Given the description of an element on the screen output the (x, y) to click on. 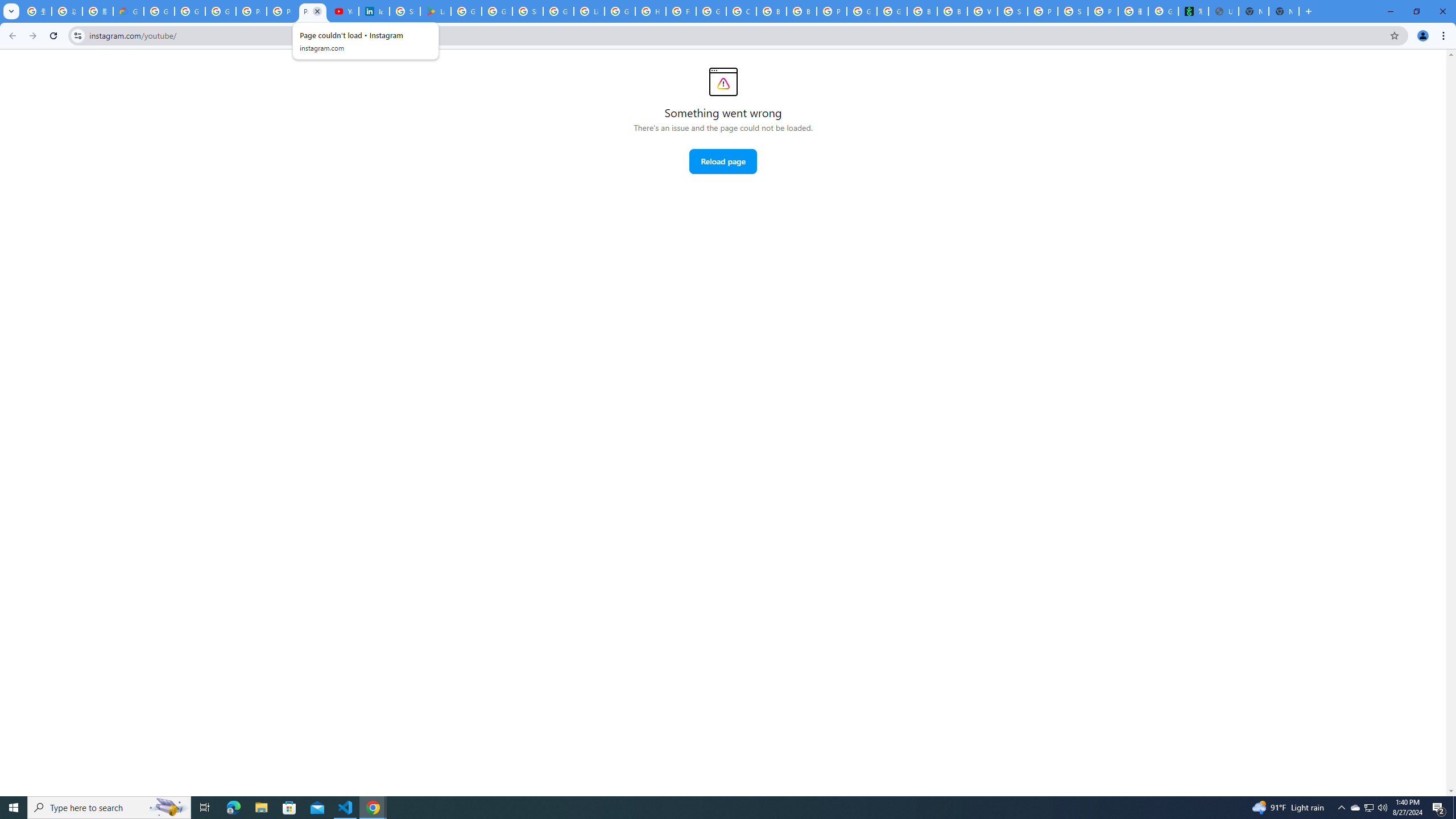
Google Cloud Platform (861, 11)
Sign in - Google Accounts (404, 11)
Browse Chrome as a guest - Computer - Google Chrome Help (922, 11)
Error (723, 81)
Untitled (1223, 11)
Last Shelter: Survival - Apps on Google Play (434, 11)
